Given the description of an element on the screen output the (x, y) to click on. 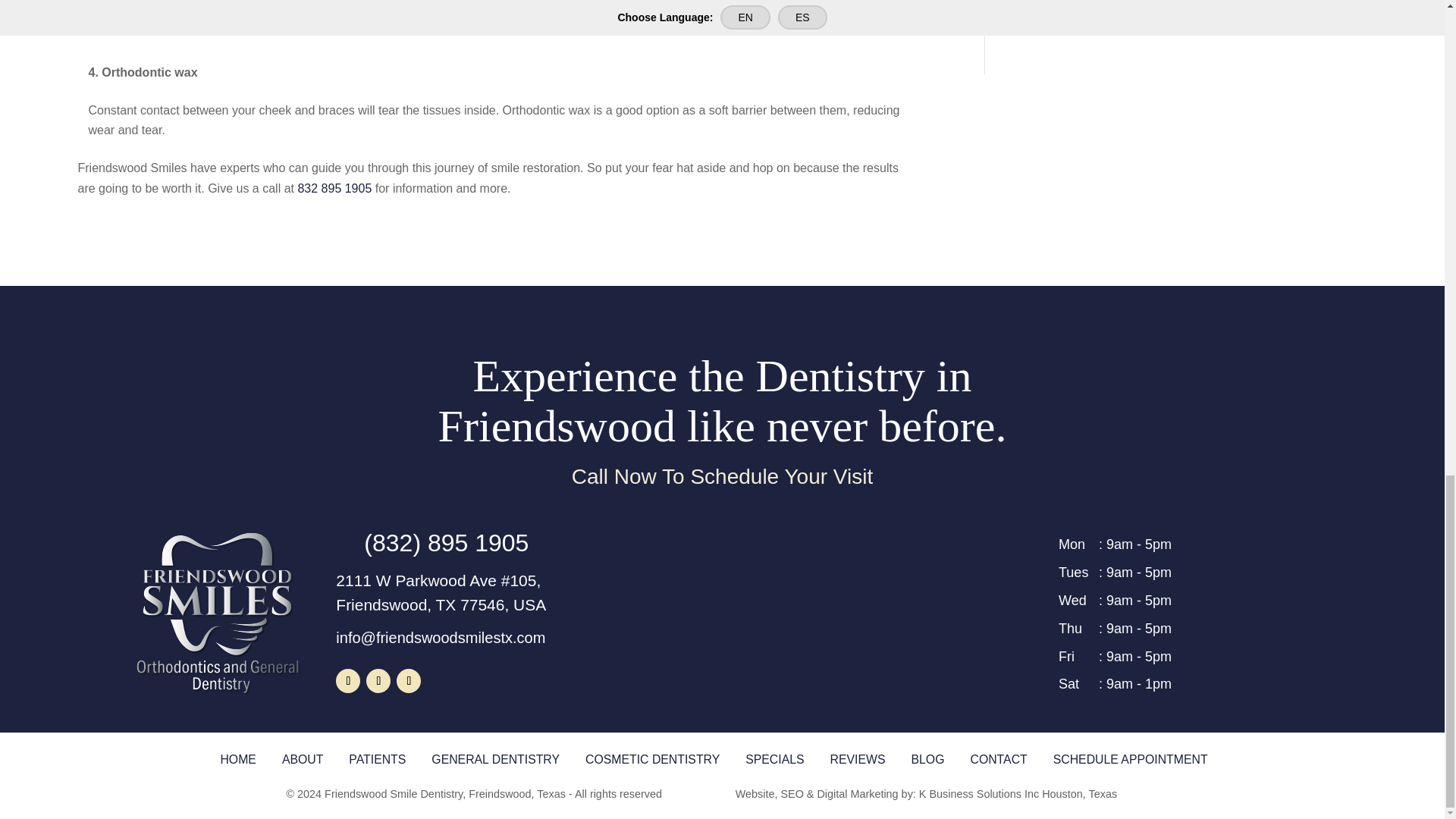
Follow on Instagram (408, 680)
Follow on Twitter (378, 680)
Follow on Facebook (347, 680)
